Given the description of an element on the screen output the (x, y) to click on. 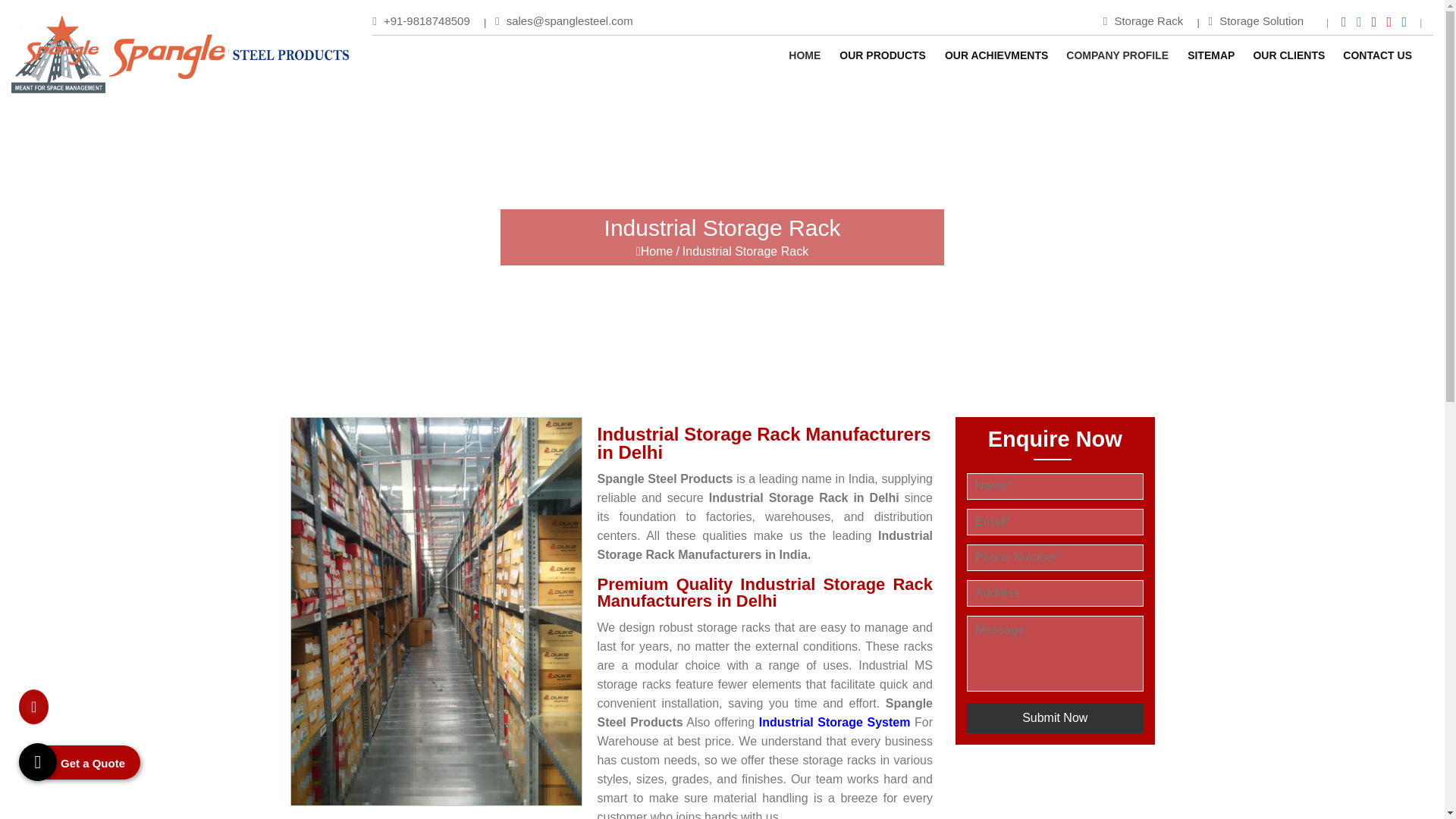
OUR PRODUCTS (882, 55)
Storage Solution (1256, 20)
Storage Solution (1256, 20)
Spangle Steel Products  (180, 54)
Storage Rack (1143, 20)
HOME (803, 55)
